Given the description of an element on the screen output the (x, y) to click on. 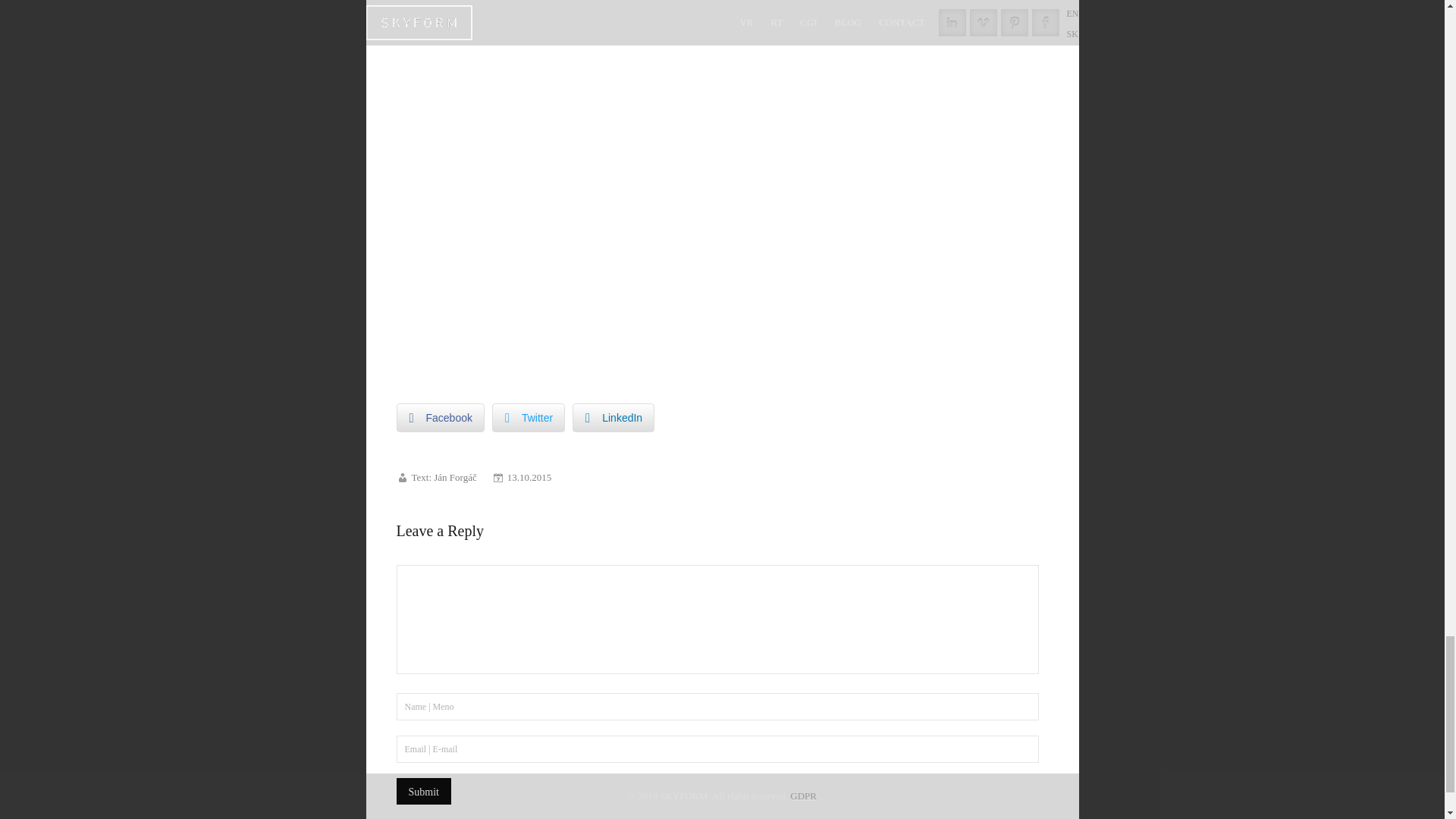
LinkedIn (612, 417)
Submit (422, 791)
Twitter (528, 417)
Submit (422, 791)
Facebook (439, 417)
